Given the description of an element on the screen output the (x, y) to click on. 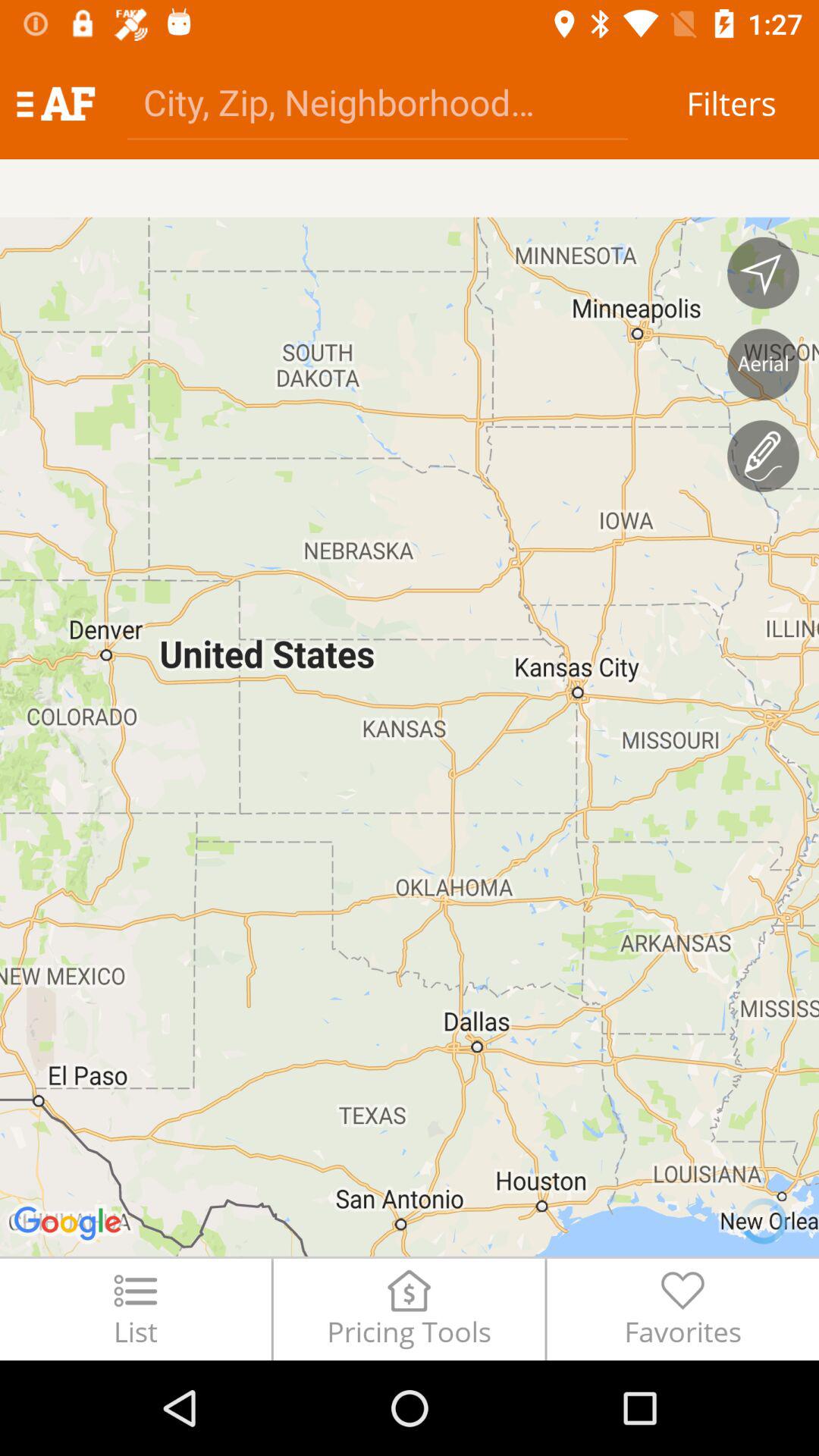
switch to aerial view (763, 364)
